Given the description of an element on the screen output the (x, y) to click on. 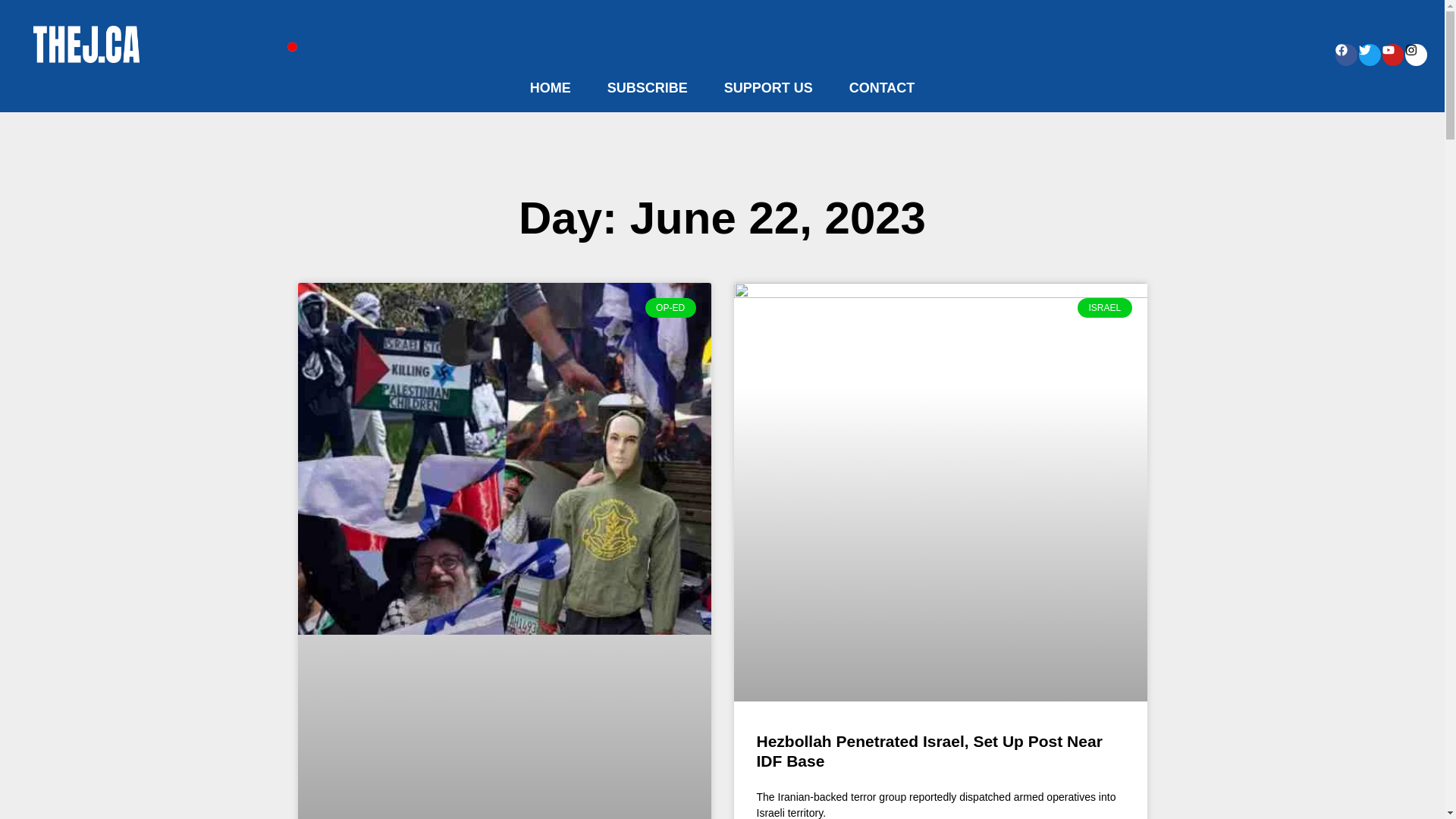
CONTACT (882, 87)
SUBSCRIBE (647, 87)
SUPPORT US (768, 87)
Hezbollah Penetrated Israel, Set Up Post Near IDF Base (929, 750)
HOME (550, 87)
